Given the description of an element on the screen output the (x, y) to click on. 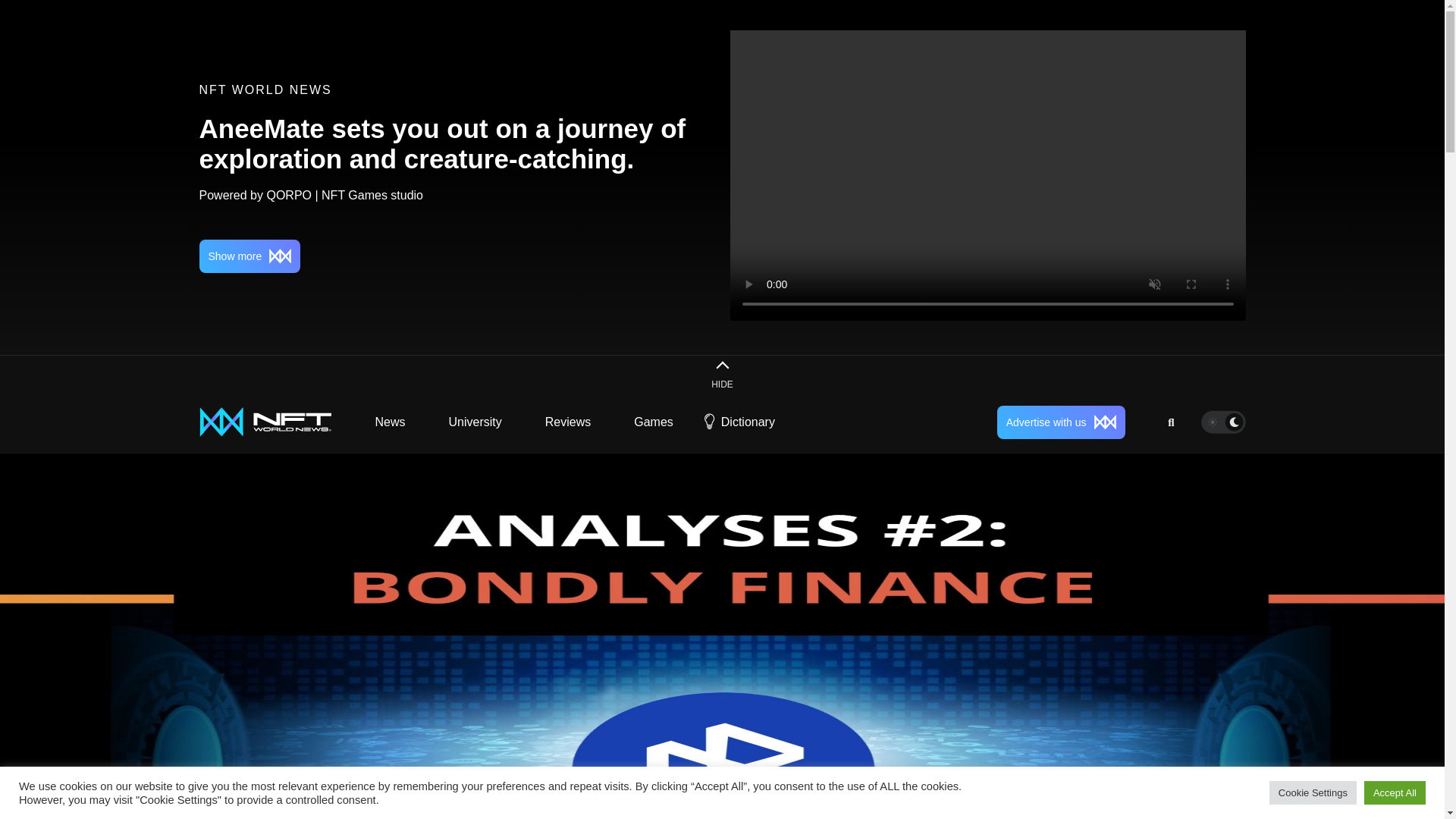
News (389, 421)
Games (653, 421)
Search (1166, 459)
Dictionary (748, 421)
Advertise with us (1061, 421)
Reviews (567, 421)
University (474, 421)
Show more (248, 255)
